Given the description of an element on the screen output the (x, y) to click on. 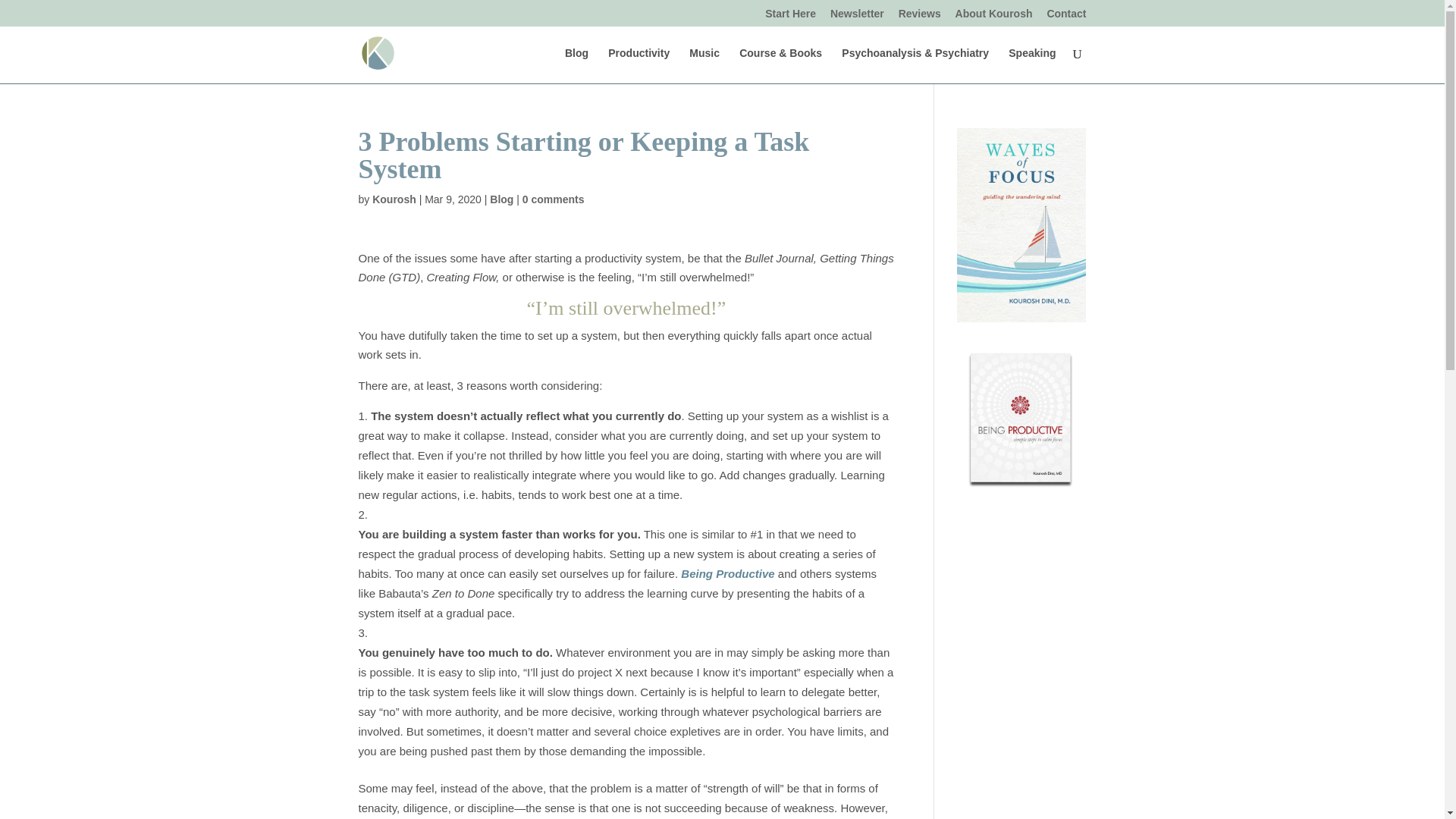
Blog (501, 199)
About Kourosh (993, 16)
Being Productive (727, 573)
Kourosh (394, 199)
Speaking (1032, 65)
Reviews (919, 16)
Newsletter (856, 16)
Productivity (638, 65)
0 comments (553, 199)
Start Here (790, 16)
